Given the description of an element on the screen output the (x, y) to click on. 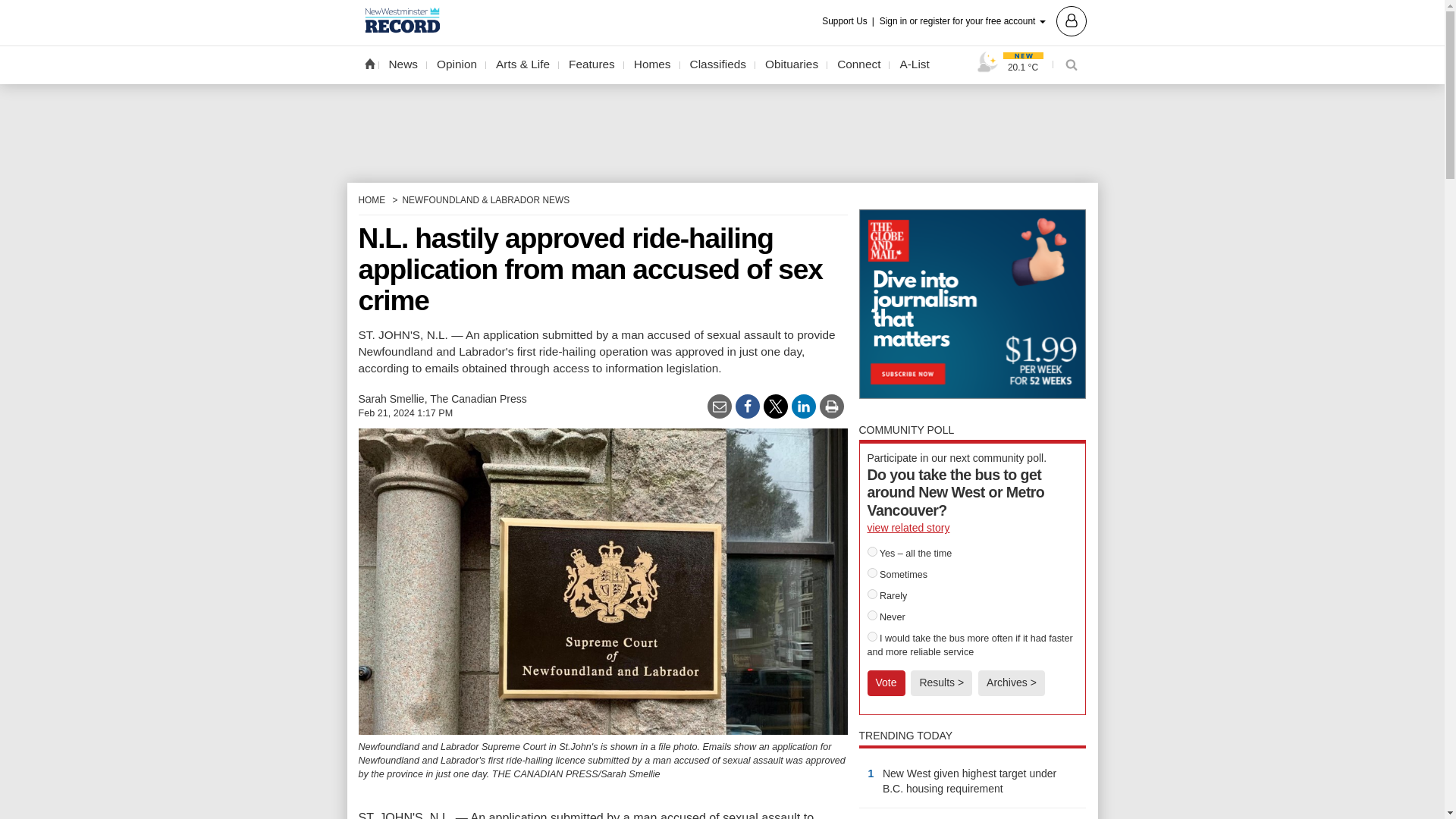
Opinion (456, 64)
122609 (872, 593)
Support Us (849, 21)
122611 (872, 636)
122607 (872, 551)
Sign in or register for your free account (982, 20)
Home (368, 63)
News (403, 64)
122608 (872, 573)
122610 (872, 614)
